Given the description of an element on the screen output the (x, y) to click on. 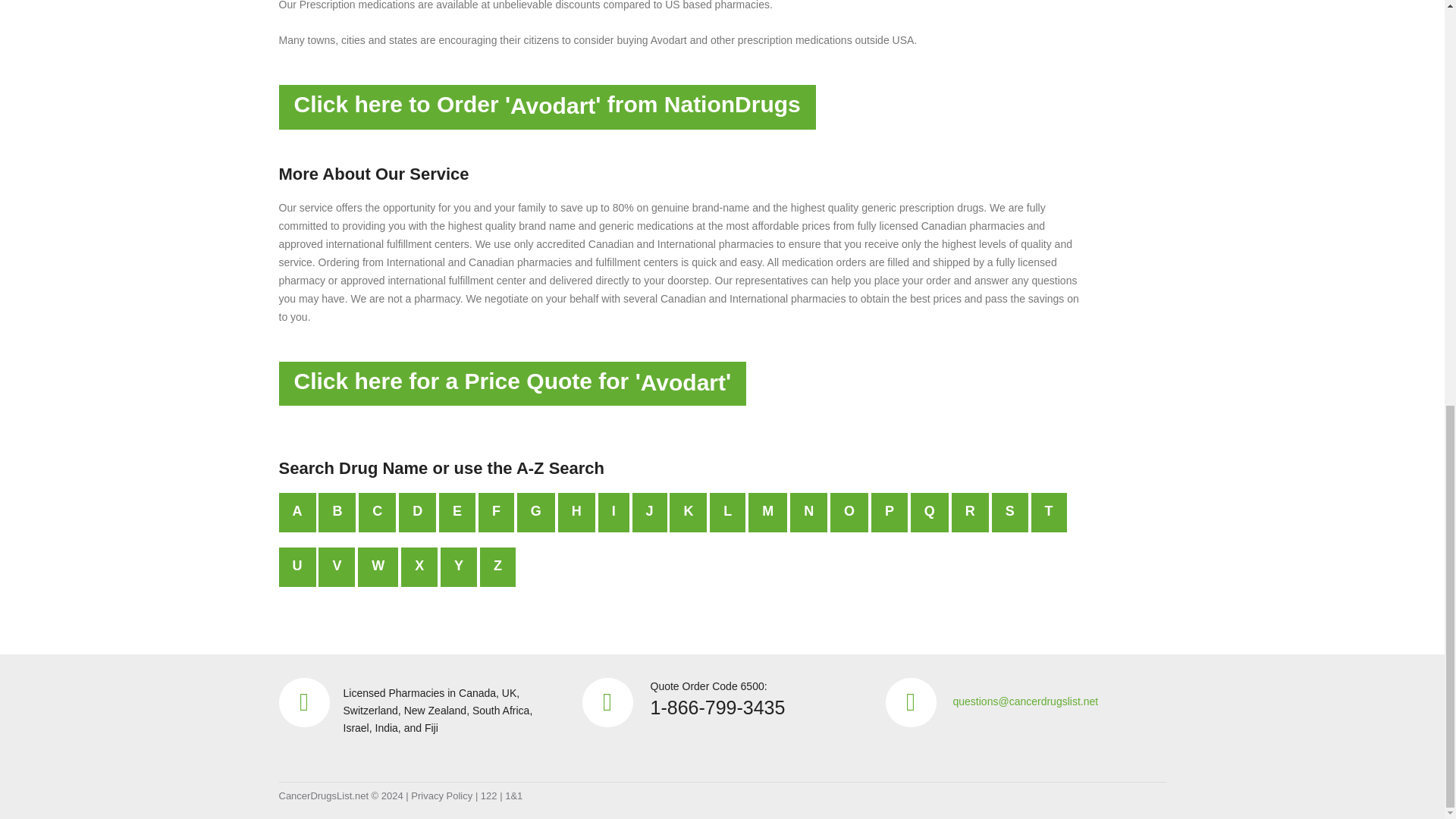
L (727, 512)
G (535, 512)
A (297, 512)
M (767, 512)
B (336, 512)
Click here for a Price Quote for 'Avodart' (512, 383)
C (377, 512)
E (457, 512)
H (576, 512)
K (687, 512)
